Given the description of an element on the screen output the (x, y) to click on. 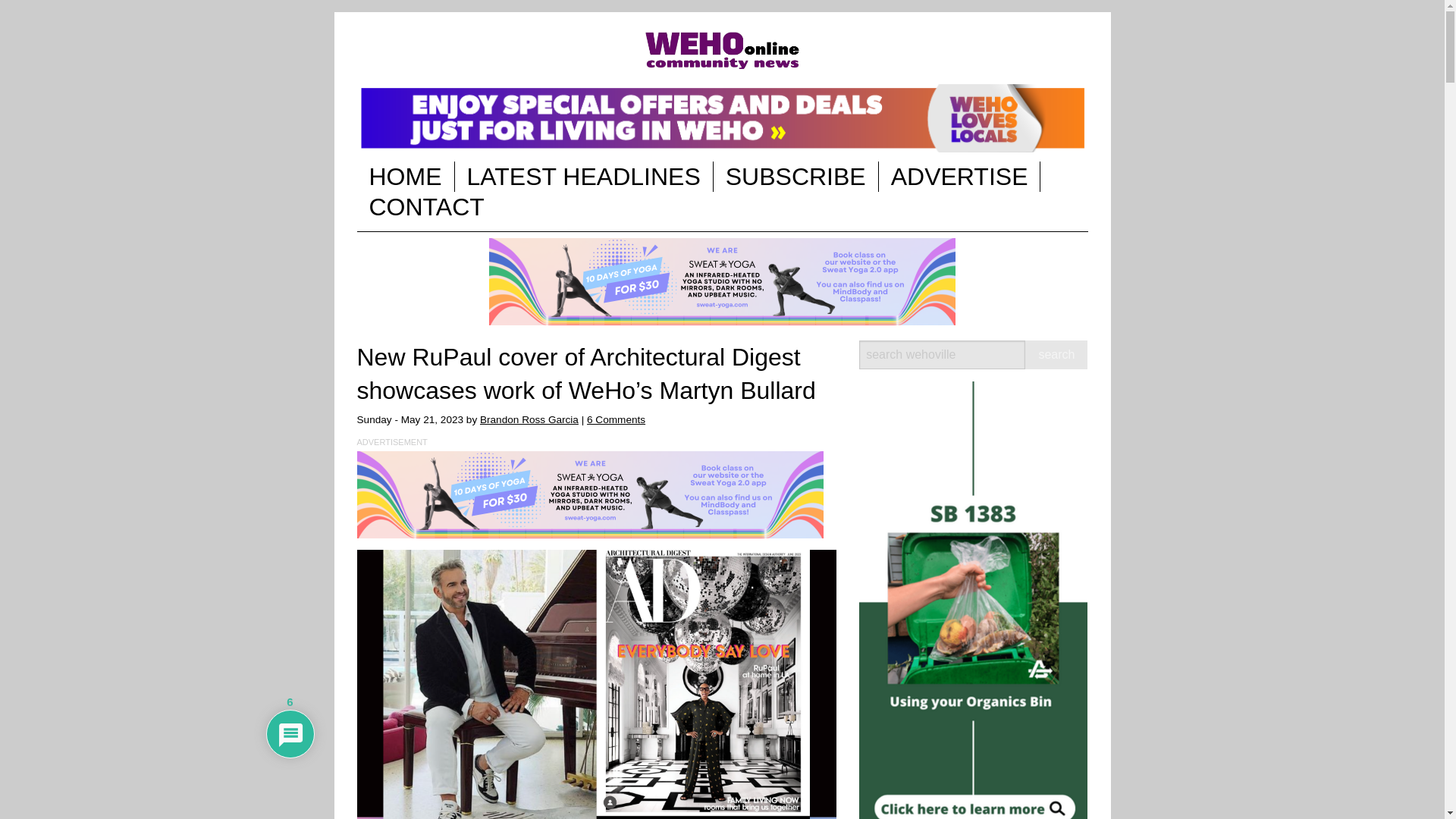
SUBSCRIBE (795, 176)
HOME (404, 176)
CONTACT (426, 206)
LATEST HEADLINES (583, 176)
ADVERTISE (960, 176)
search (1056, 354)
WeHo Loves Locals (721, 118)
6 Comments (615, 419)
Brandon Ross Garcia (529, 419)
